Given the description of an element on the screen output the (x, y) to click on. 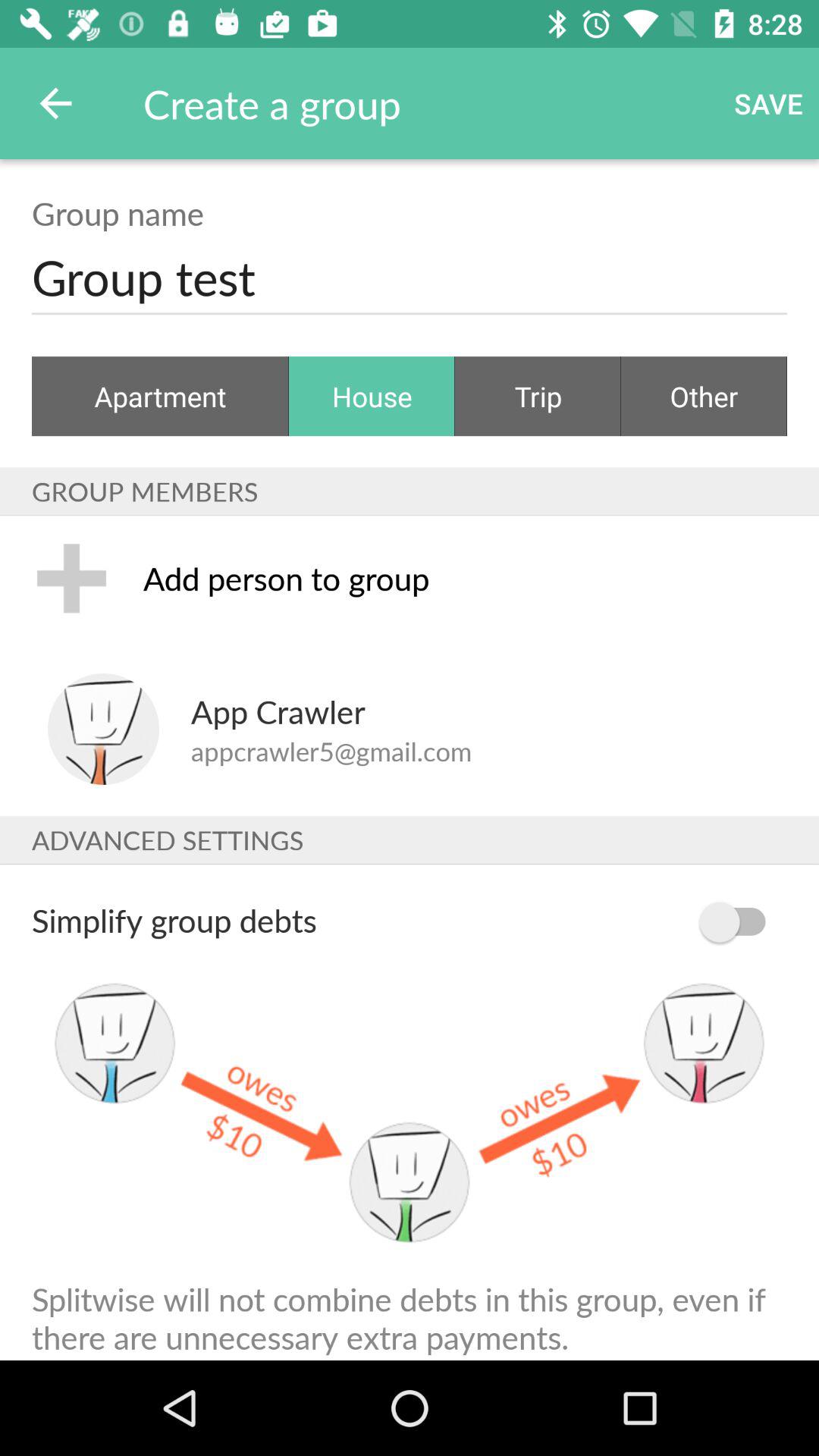
open item to the right of the trip (704, 396)
